Given the description of an element on the screen output the (x, y) to click on. 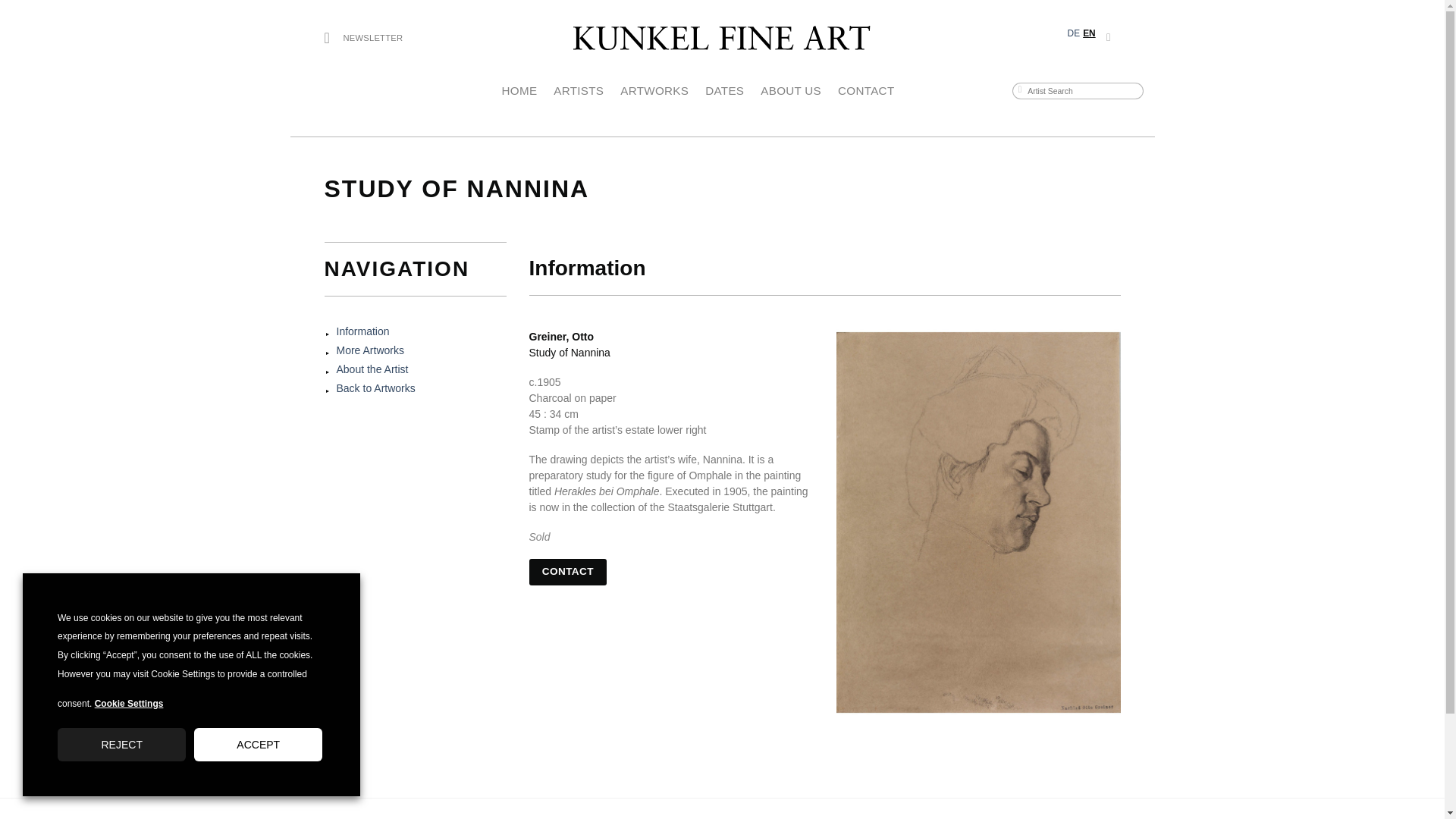
Follow on Instagram (1111, 37)
Back to Artworks (375, 387)
Sign up for Newsletter (363, 37)
EN (1089, 38)
ABOUT US (790, 91)
HOME (519, 91)
Kunkel Fine Art (722, 37)
More Artworks (370, 349)
About the Artist (372, 369)
ARTISTS (578, 91)
DE (1073, 38)
Information (363, 331)
ARTWORKS (654, 91)
CONTACT (568, 571)
NEWSLETTER (363, 37)
